Given the description of an element on the screen output the (x, y) to click on. 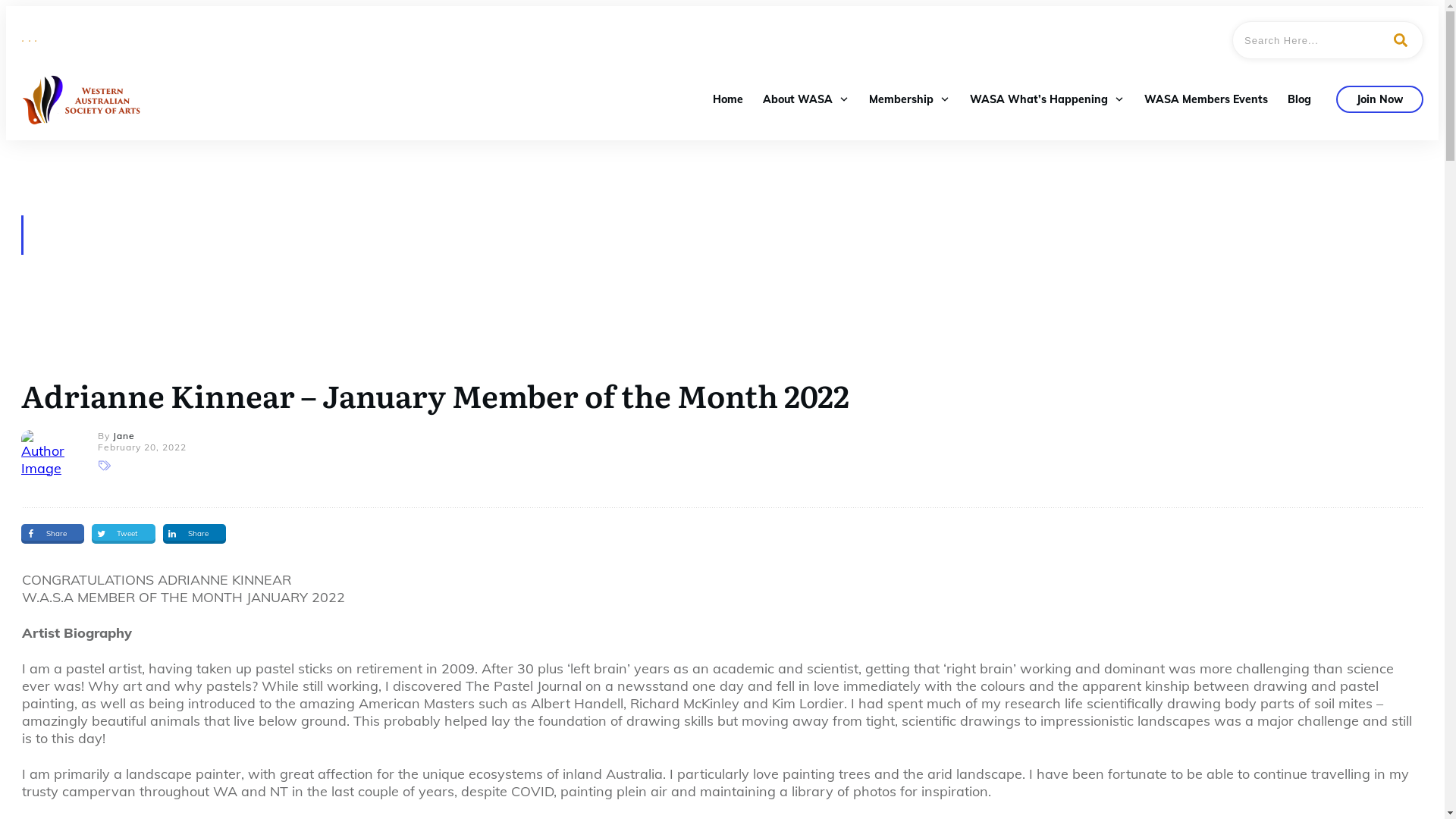
Tweet Element type: text (123, 533)
WASA Members Events Element type: text (1205, 98)
Join Now Element type: text (1379, 98)
Share Element type: text (52, 533)
Blog Element type: text (1299, 98)
Share Element type: text (194, 533)
Membership Element type: text (909, 98)
About WASA Element type: text (805, 98)
undefined Element type: hover (48, 456)
Home Element type: text (727, 98)
